Given the description of an element on the screen output the (x, y) to click on. 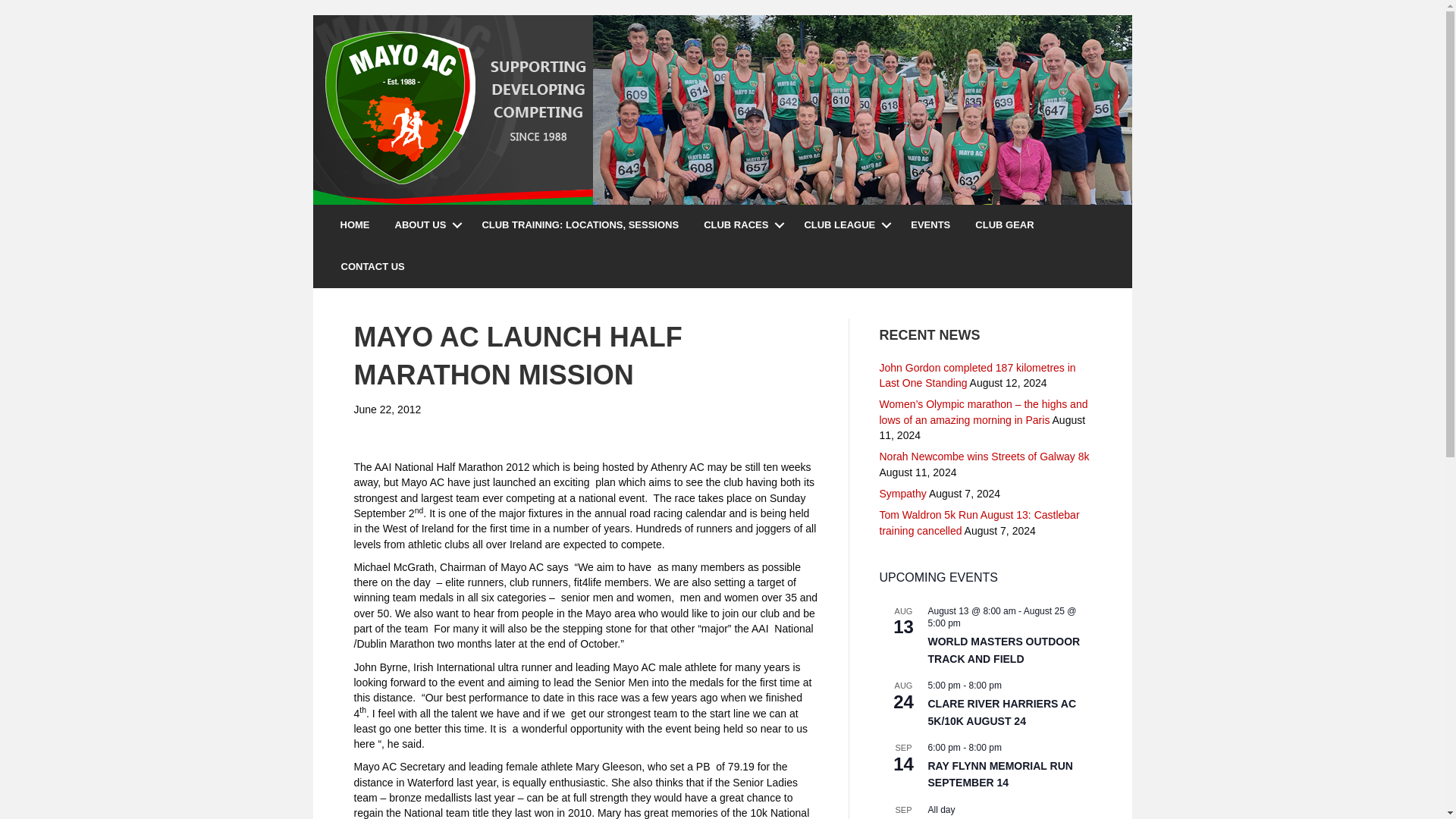
World Masters Outdoor Track and Field (1004, 650)
HOME (354, 225)
Norah Newcombe wins Streets of Galway 8k (984, 456)
John Gordon completed 187 kilometres in Last One Standing (977, 375)
CLUB TRAINING: LOCATIONS, SESSIONS (579, 225)
CLUB LEAGUE (845, 225)
CLUB GEAR (1003, 225)
Sympathy (902, 493)
ABOUT US (424, 225)
